Given the description of an element on the screen output the (x, y) to click on. 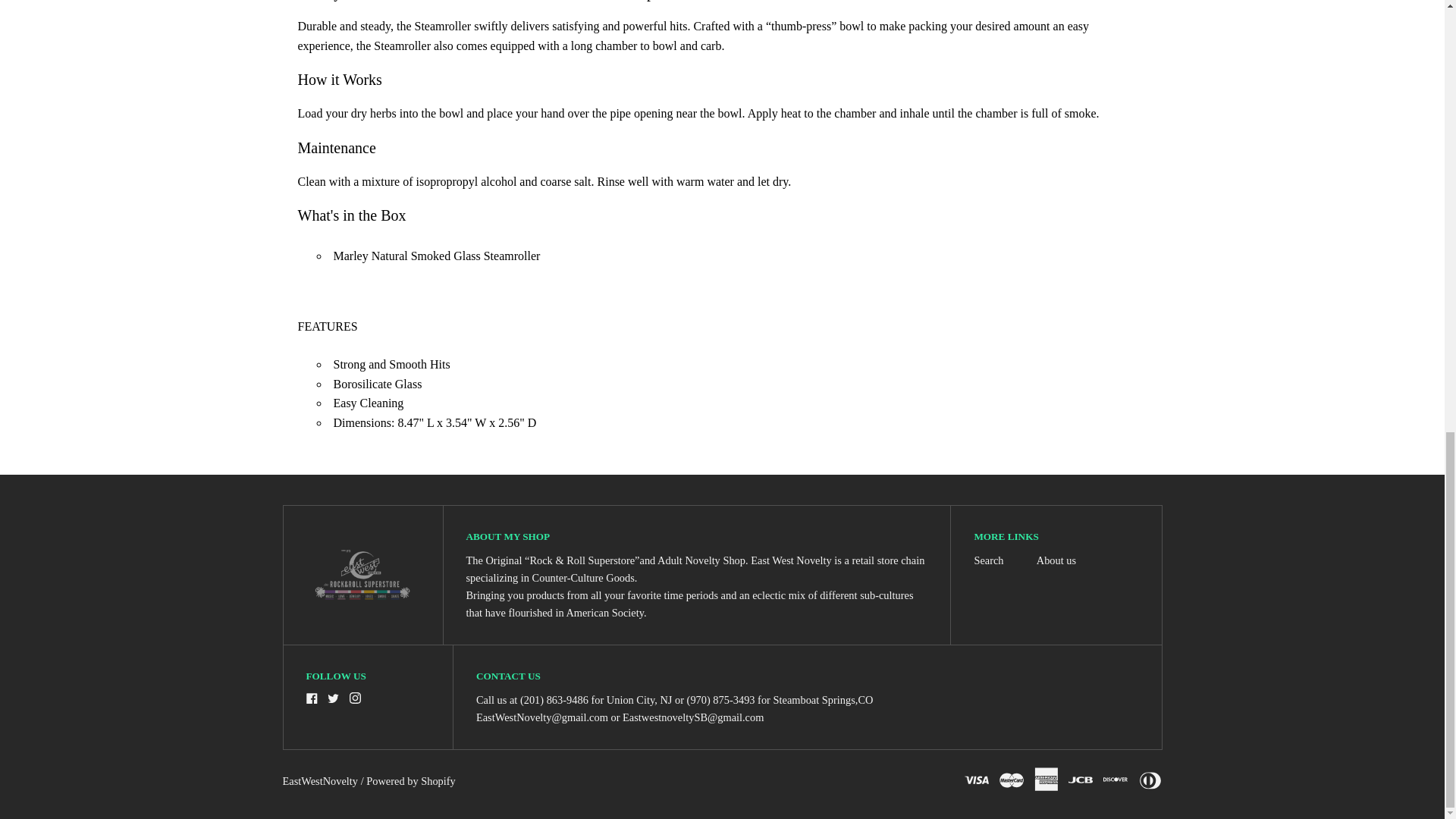
Twitter (333, 697)
Facebook (311, 697)
MasterCard (1010, 778)
AMEX (1045, 778)
JCB (1080, 778)
Discover (1114, 778)
Diners (1149, 778)
Visa (975, 778)
Instagram (355, 697)
